Given the description of an element on the screen output the (x, y) to click on. 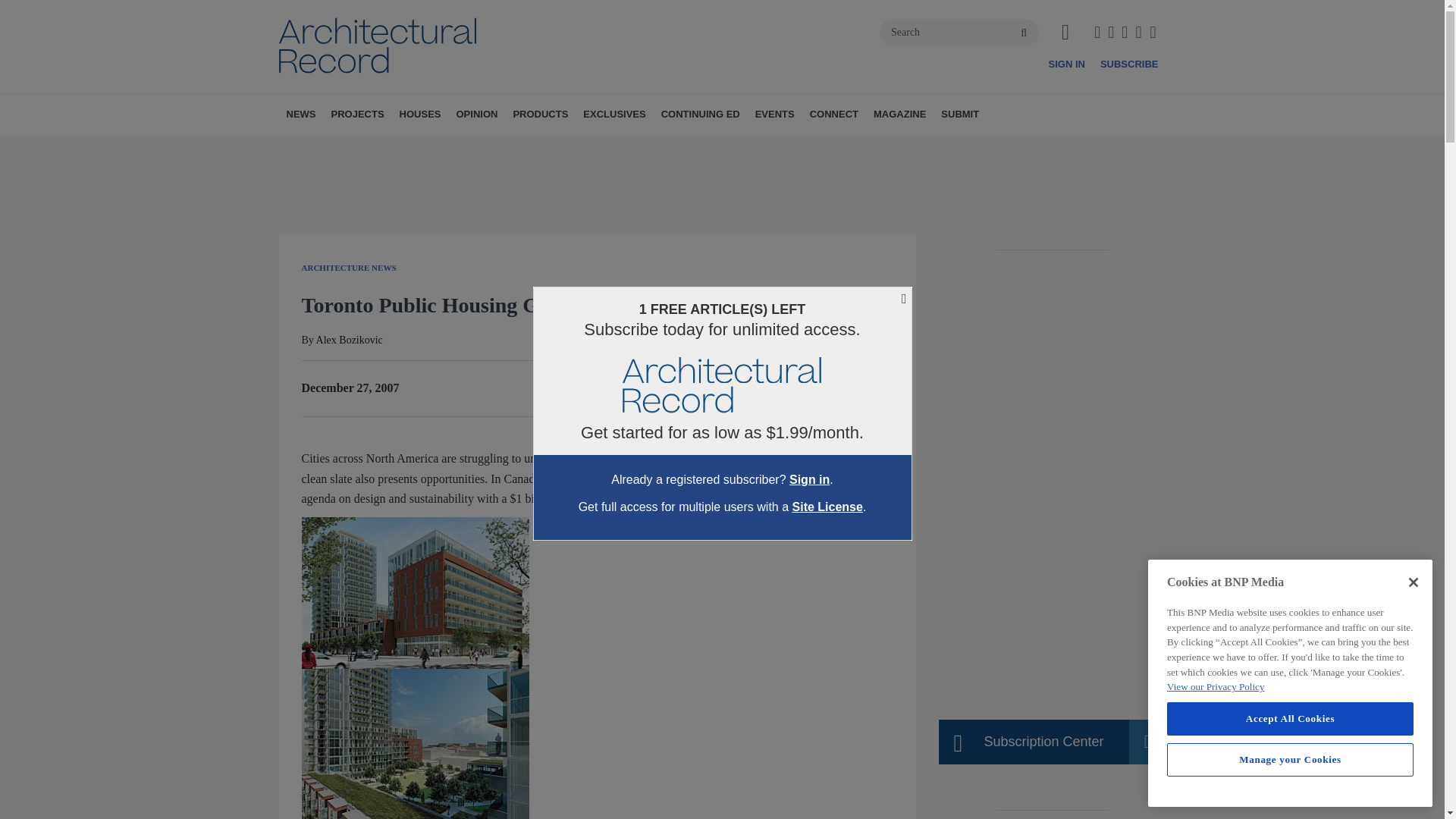
Search (959, 31)
Search (959, 31)
